Given the description of an element on the screen output the (x, y) to click on. 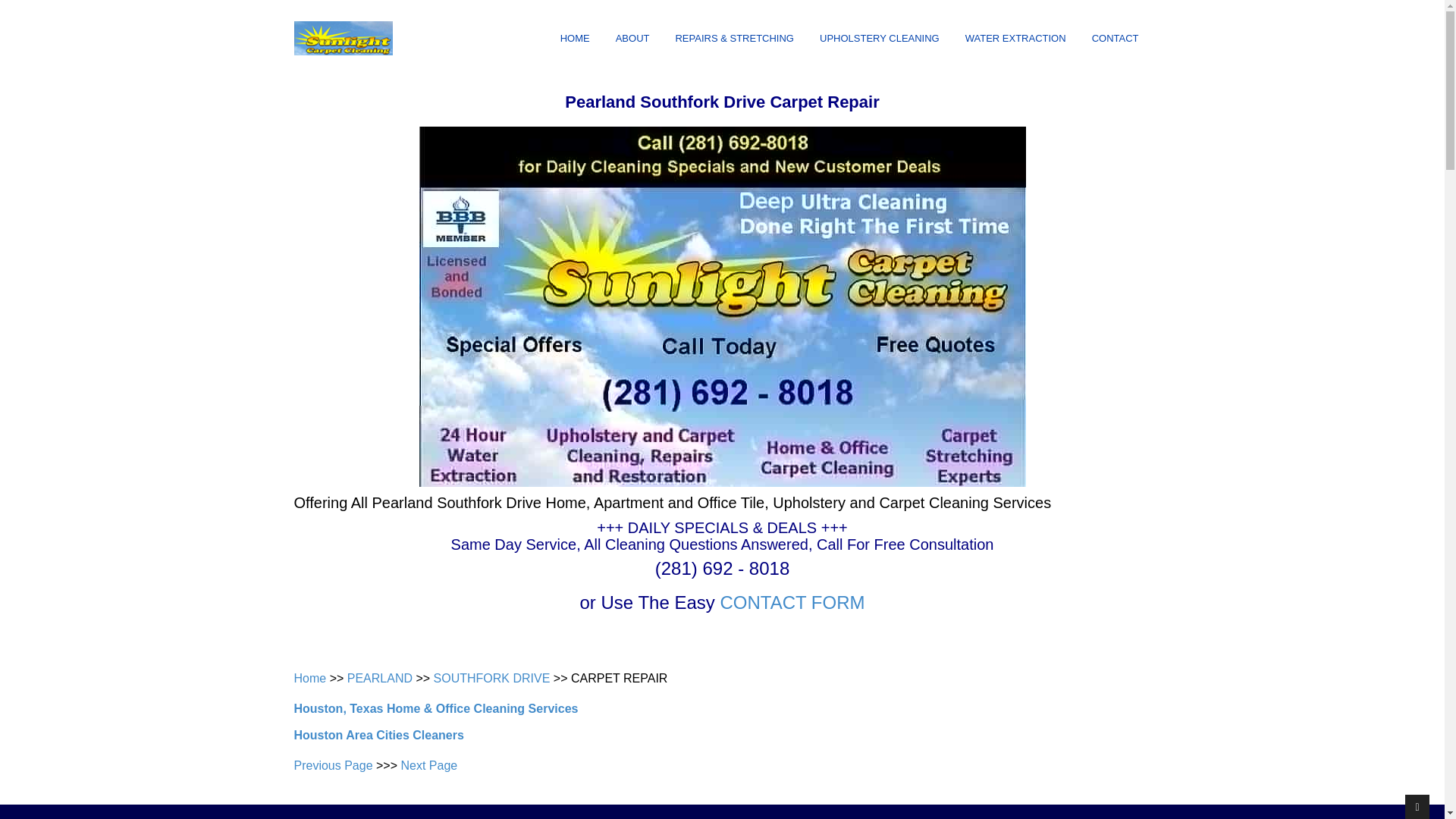
ABOUT (633, 38)
CONTACT FORM (791, 602)
Next Page (428, 765)
Houston Area Cities Cleaners (379, 735)
UPHOLSTERY CLEANING (880, 38)
Previous Page (333, 765)
HOME (575, 38)
SOUTHFORK DRIVE (491, 677)
Home (310, 677)
WATER EXTRACTION (1015, 38)
